Given the description of an element on the screen output the (x, y) to click on. 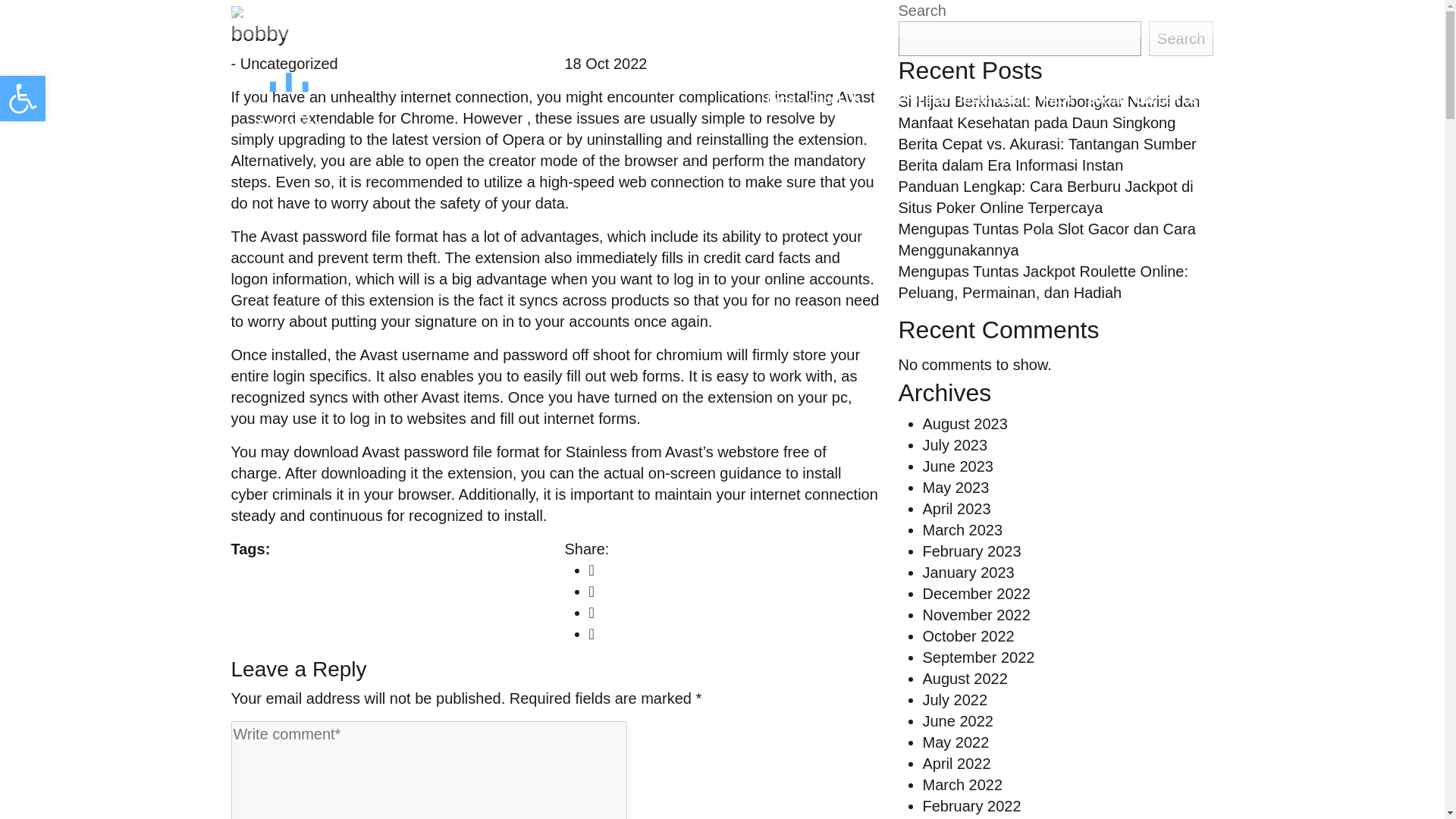
FAQs (1058, 100)
Home (777, 100)
Mengupas Tuntas Pola Slot Gacor dan Cara Menggunakannya (1046, 239)
Search (1180, 38)
August 2023 (964, 423)
Testimonials (993, 100)
Open toolbar (22, 98)
Our Process (908, 100)
July 2023 (954, 444)
cyber criminals (280, 494)
918-623-6411 (276, 17)
Accessibility Tools (22, 98)
